Given the description of an element on the screen output the (x, y) to click on. 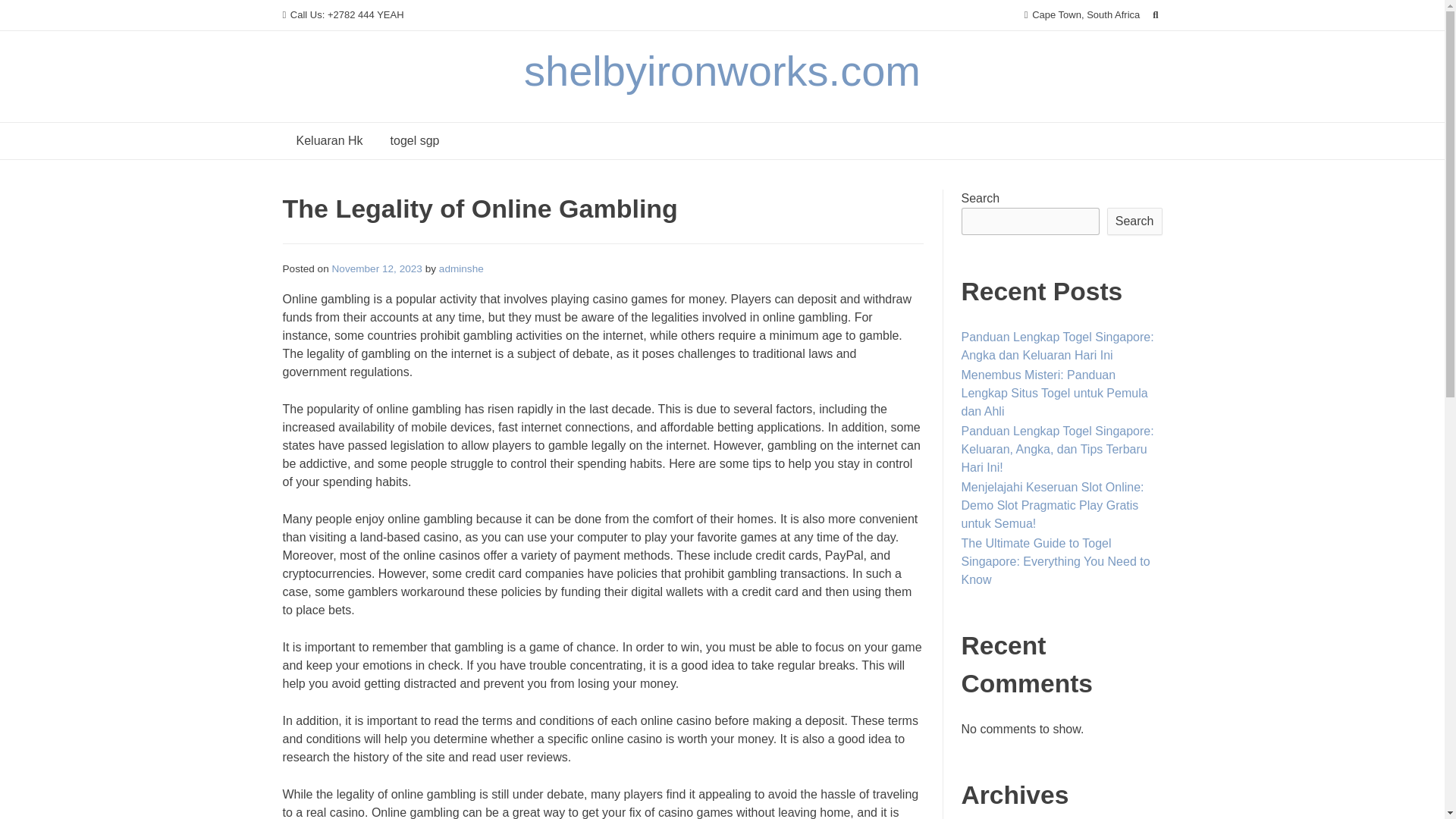
shelbyironworks.com (722, 70)
Panduan Lengkap Togel Singapore: Angka dan Keluaran Hari Ini (1057, 345)
togel sgp (414, 140)
Keluaran Hk (328, 140)
Search (1133, 221)
adminshe (461, 268)
November 12, 2023 (376, 268)
Search (27, 13)
